Given the description of an element on the screen output the (x, y) to click on. 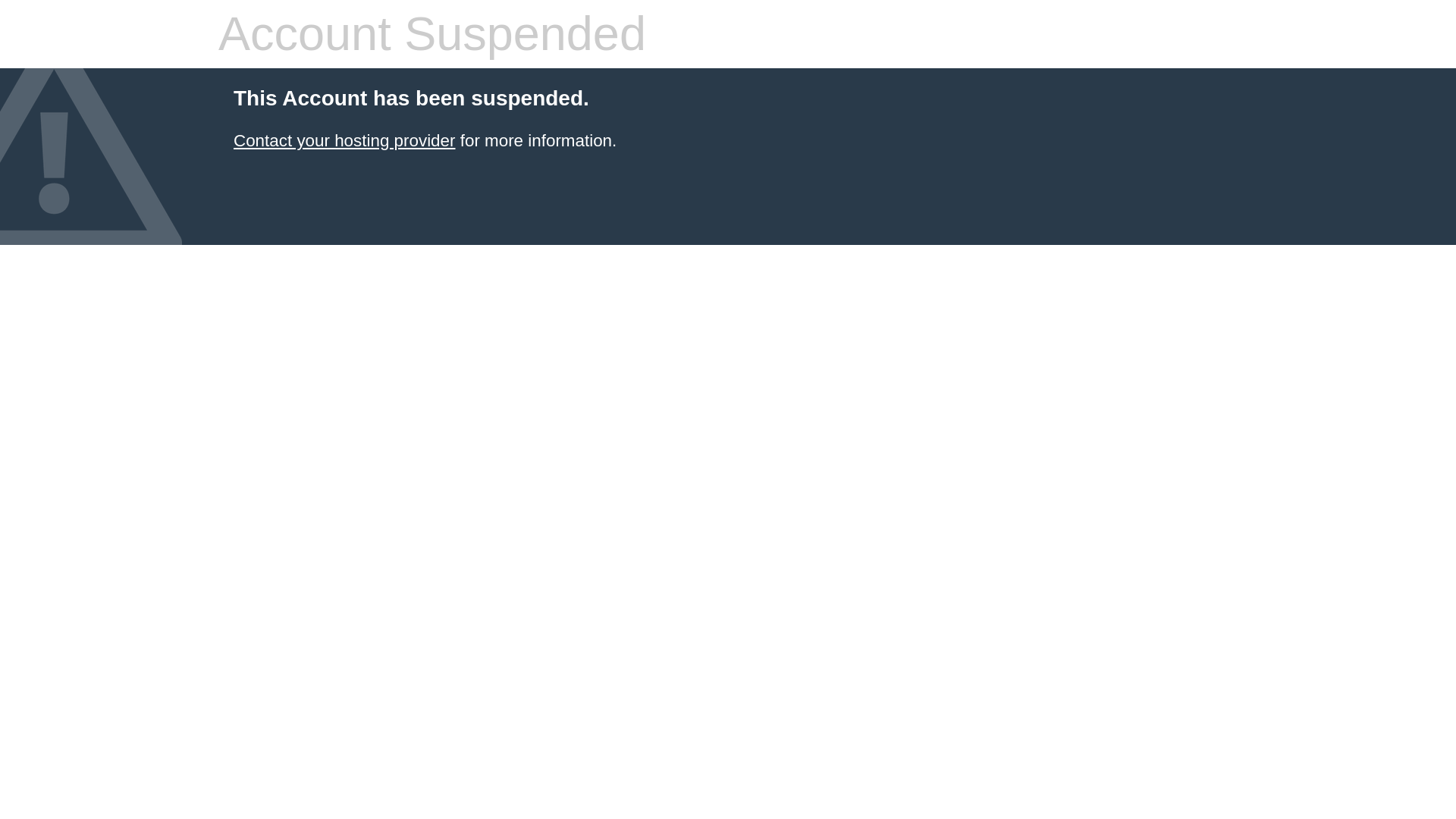
Contact your hosting provider (343, 140)
